Given the description of an element on the screen output the (x, y) to click on. 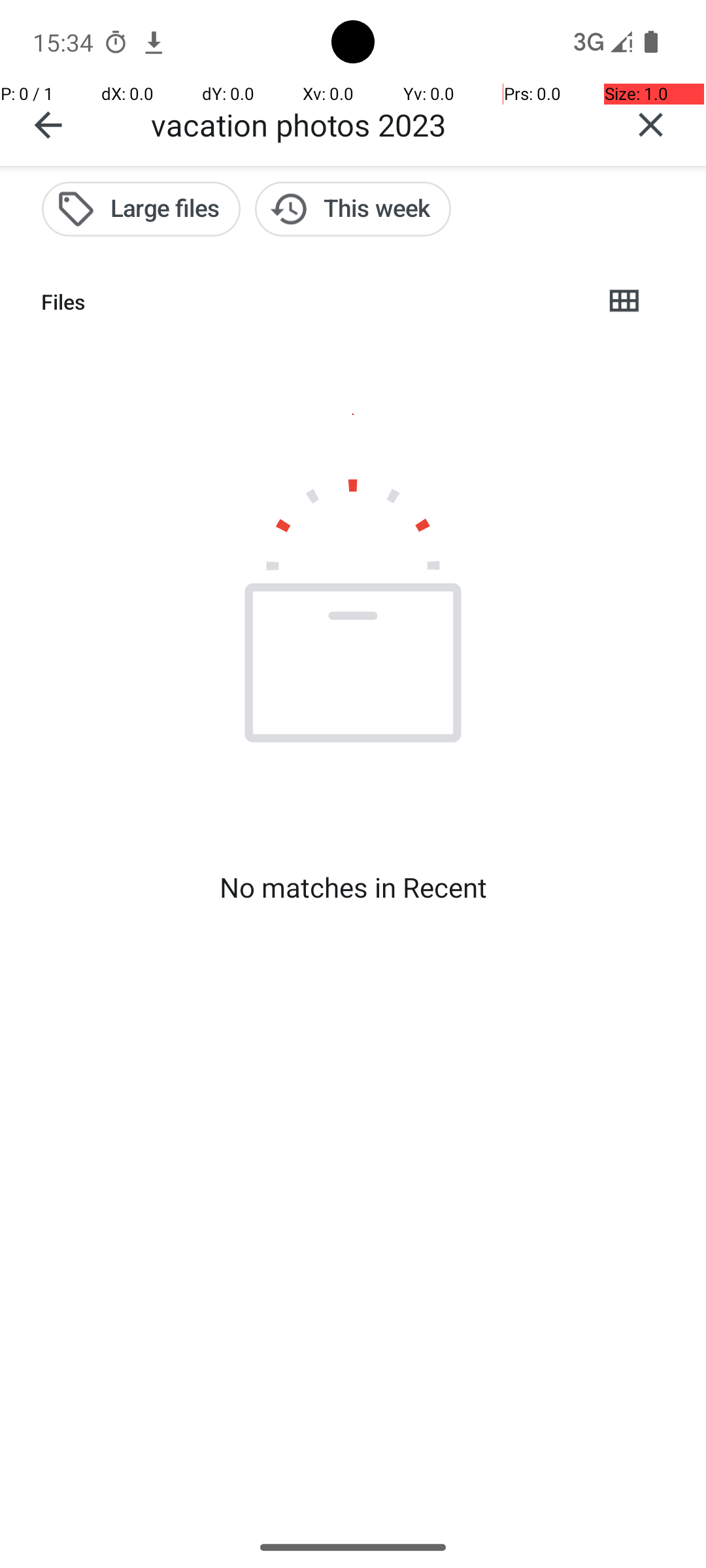
vacation photos 2023 Element type: android.widget.AutoCompleteTextView (373, 124)
Chrome notification: www.espn.com Element type: android.widget.ImageView (153, 41)
